Given the description of an element on the screen output the (x, y) to click on. 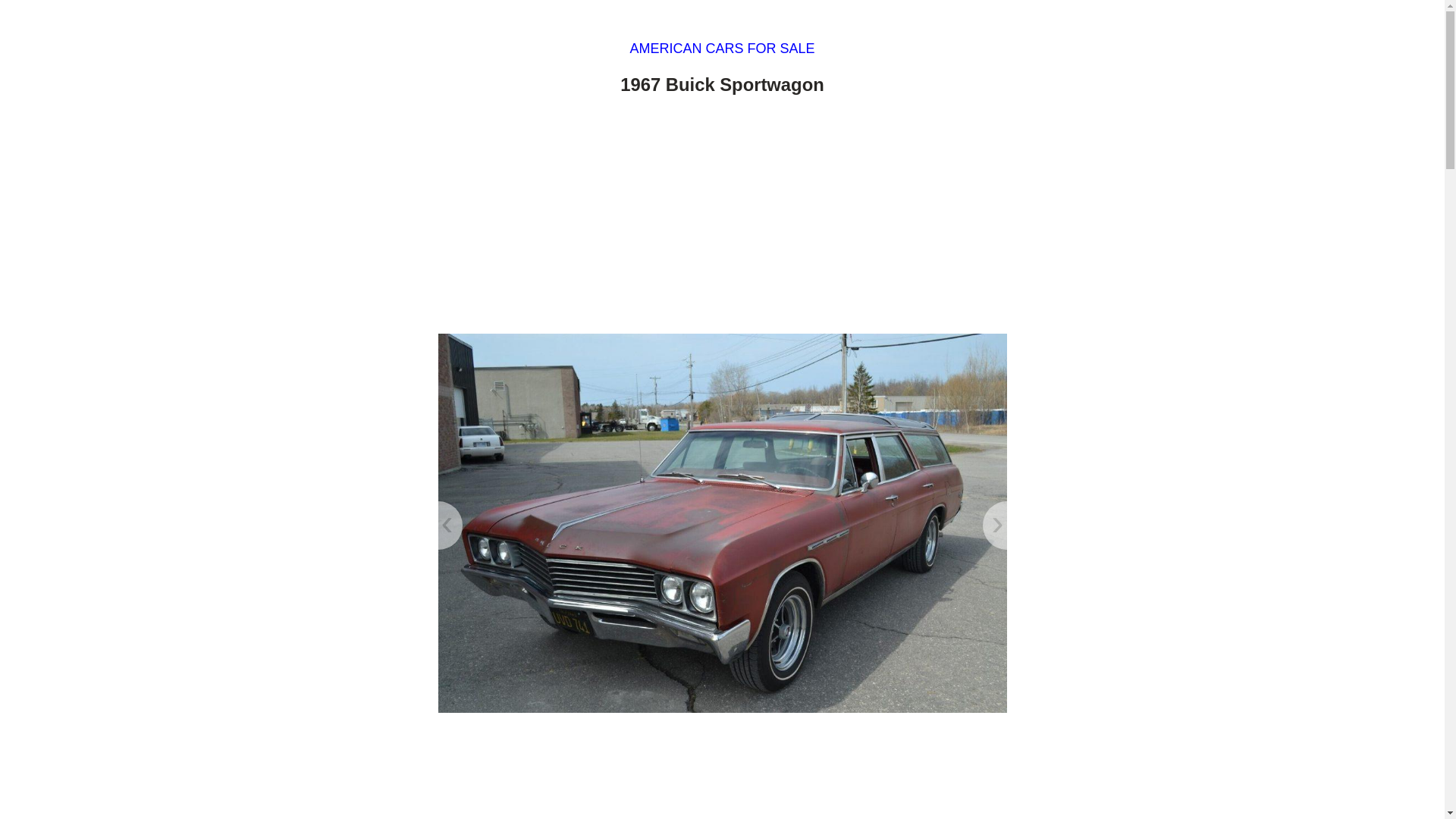
AMERICAN CARS FOR SALE (720, 48)
Advertisement (722, 771)
Advertisement (722, 218)
